Given the description of an element on the screen output the (x, y) to click on. 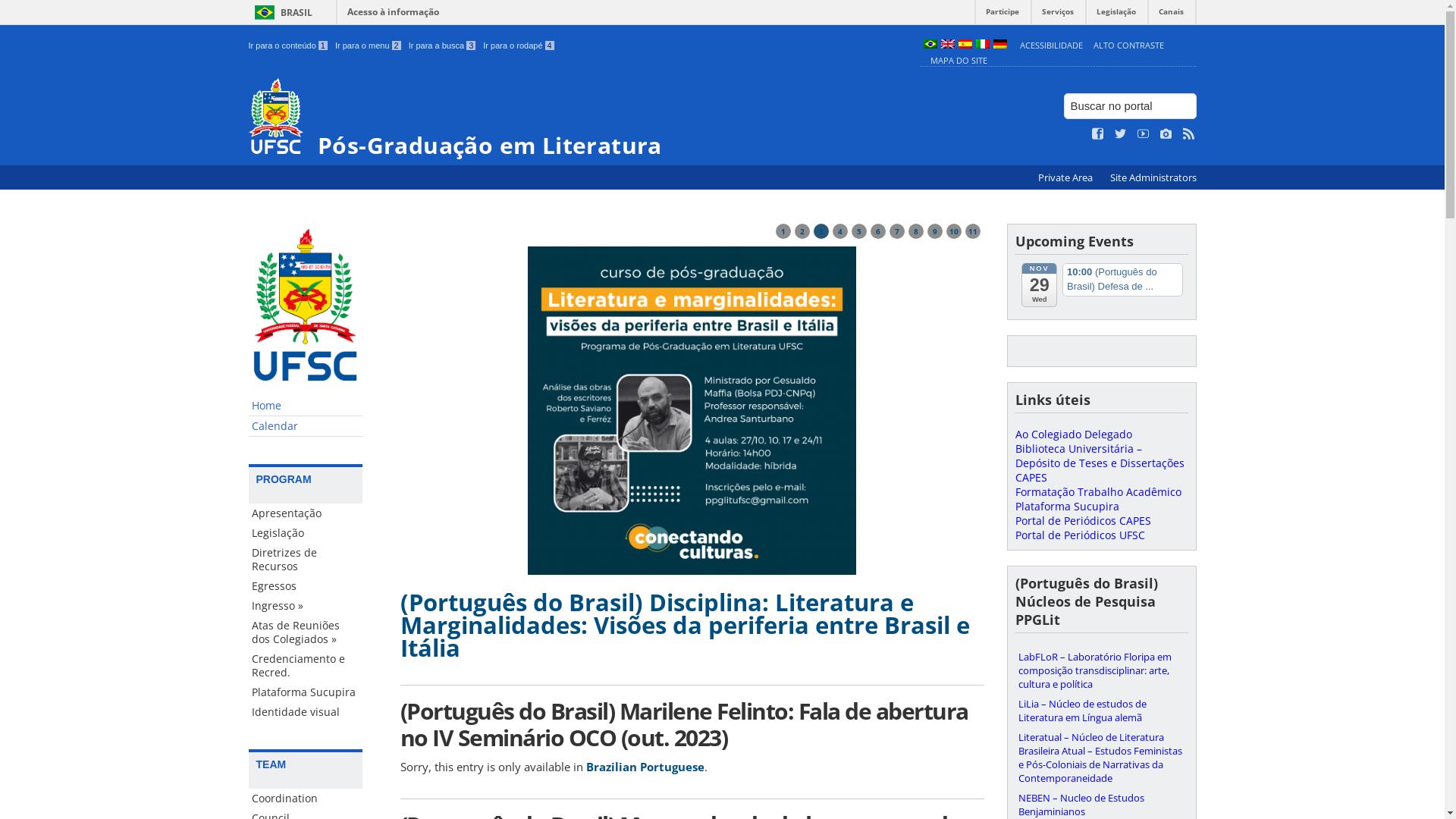
Participe Element type: text (1002, 15)
2 Element type: text (801, 230)
NOV
29
Wed Element type: text (1039, 284)
7 Element type: text (895, 230)
Curta no Facebook Element type: hover (1098, 134)
Egressos Element type: text (305, 586)
6 Element type: text (877, 230)
Private Area Element type: text (1065, 177)
1 Element type: text (782, 230)
8 Element type: text (915, 230)
Italiano (it) Element type: hover (981, 44)
Plataforma Sucupira Element type: text (305, 692)
English (en) Element type: hover (946, 44)
Veja no Instagram Element type: hover (1166, 134)
Plataforma Sucupira Element type: text (1066, 505)
5 Element type: text (858, 230)
Ao Colegiado Delegado Element type: text (1072, 433)
Ir para a busca 3 Element type: text (442, 45)
Coordination Element type: text (305, 798)
9 Element type: text (933, 230)
MAPA DO SITE Element type: text (957, 59)
ACESSIBILIDADE Element type: text (1050, 44)
Siga no Twitter Element type: hover (1120, 134)
Credenciamento e Recred. Element type: text (305, 665)
Site Administrators Element type: text (1153, 177)
ALTO CONTRASTE Element type: text (1128, 44)
Home Element type: text (305, 405)
Ir para o menu 2 Element type: text (368, 45)
10 Element type: text (953, 230)
Diretrizes de Recursos Element type: text (305, 559)
3 Element type: text (820, 230)
CAPES Element type: text (1030, 477)
Canais Element type: text (1171, 15)
11 Element type: text (971, 230)
Calendar Element type: text (305, 426)
4 Element type: text (839, 230)
BRASIL Element type: text (280, 12)
Deutsch (de) Element type: hover (1000, 44)
Identidade visual Element type: text (305, 711)
Brazilian Portuguese Element type: text (644, 766)
